Given the description of an element on the screen output the (x, y) to click on. 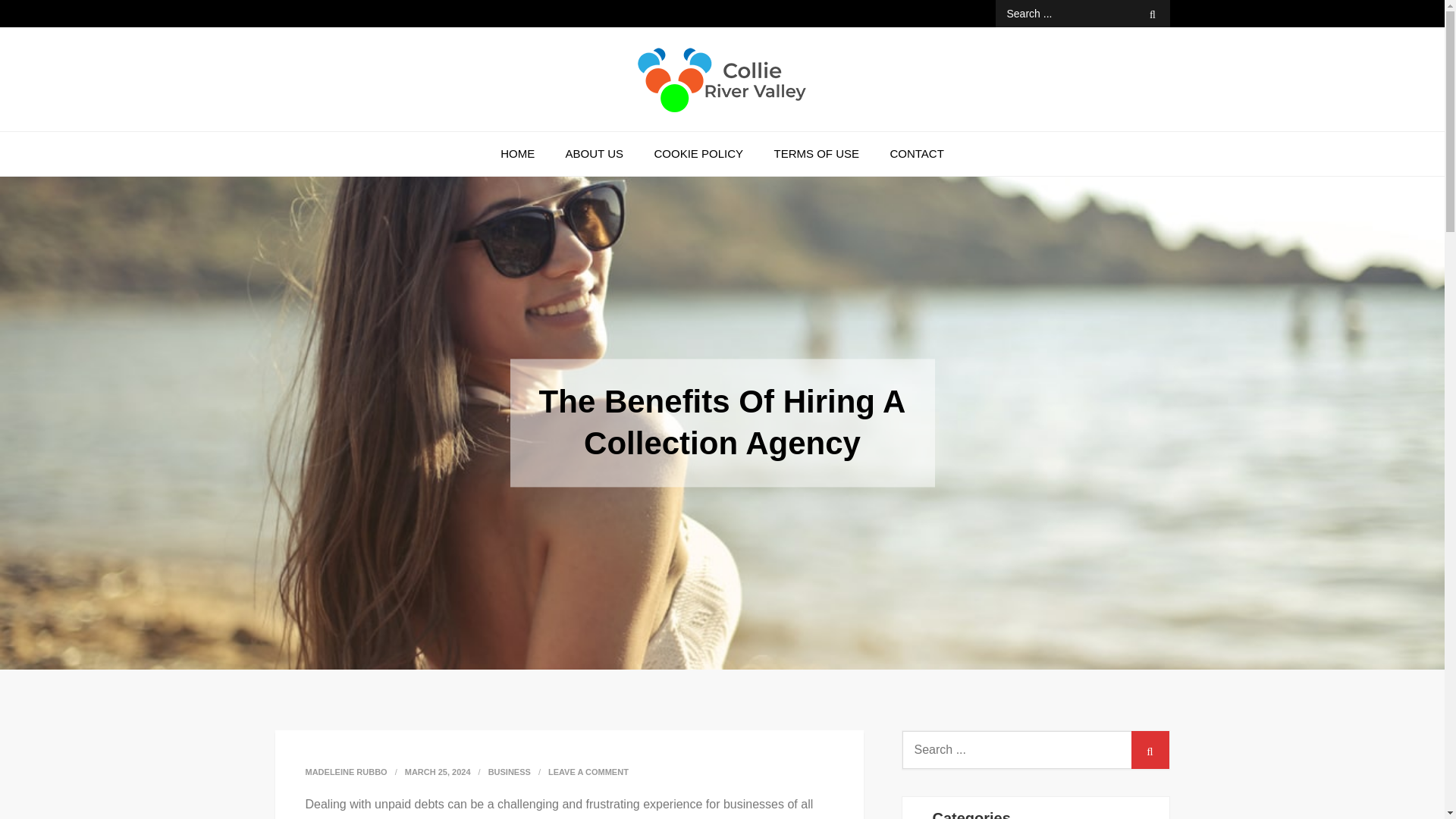
Search (1152, 13)
Collieriver Valley (402, 135)
CONTACT (916, 153)
Search for: (1035, 750)
BUSINESS (509, 771)
HOME (517, 153)
COOKIE POLICY (698, 153)
MADELEINE RUBBO (345, 771)
ABOUT US (594, 153)
Search (1150, 750)
Search for: (1081, 13)
MARCH 25, 2024 (437, 771)
TERMS OF USE (816, 153)
